Given the description of an element on the screen output the (x, y) to click on. 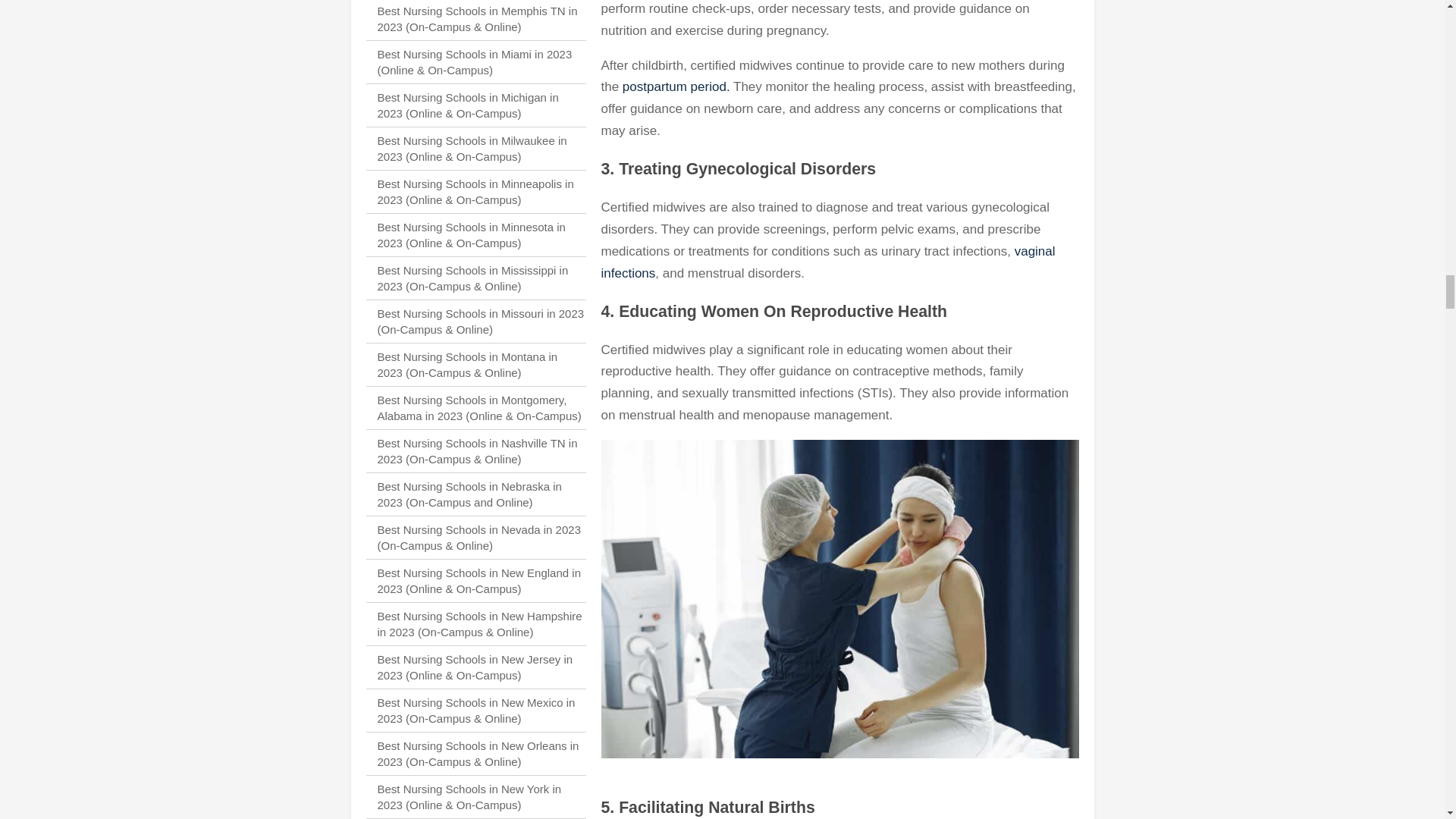
postpartum period. (676, 86)
vaginal infections (826, 262)
